Given the description of an element on the screen output the (x, y) to click on. 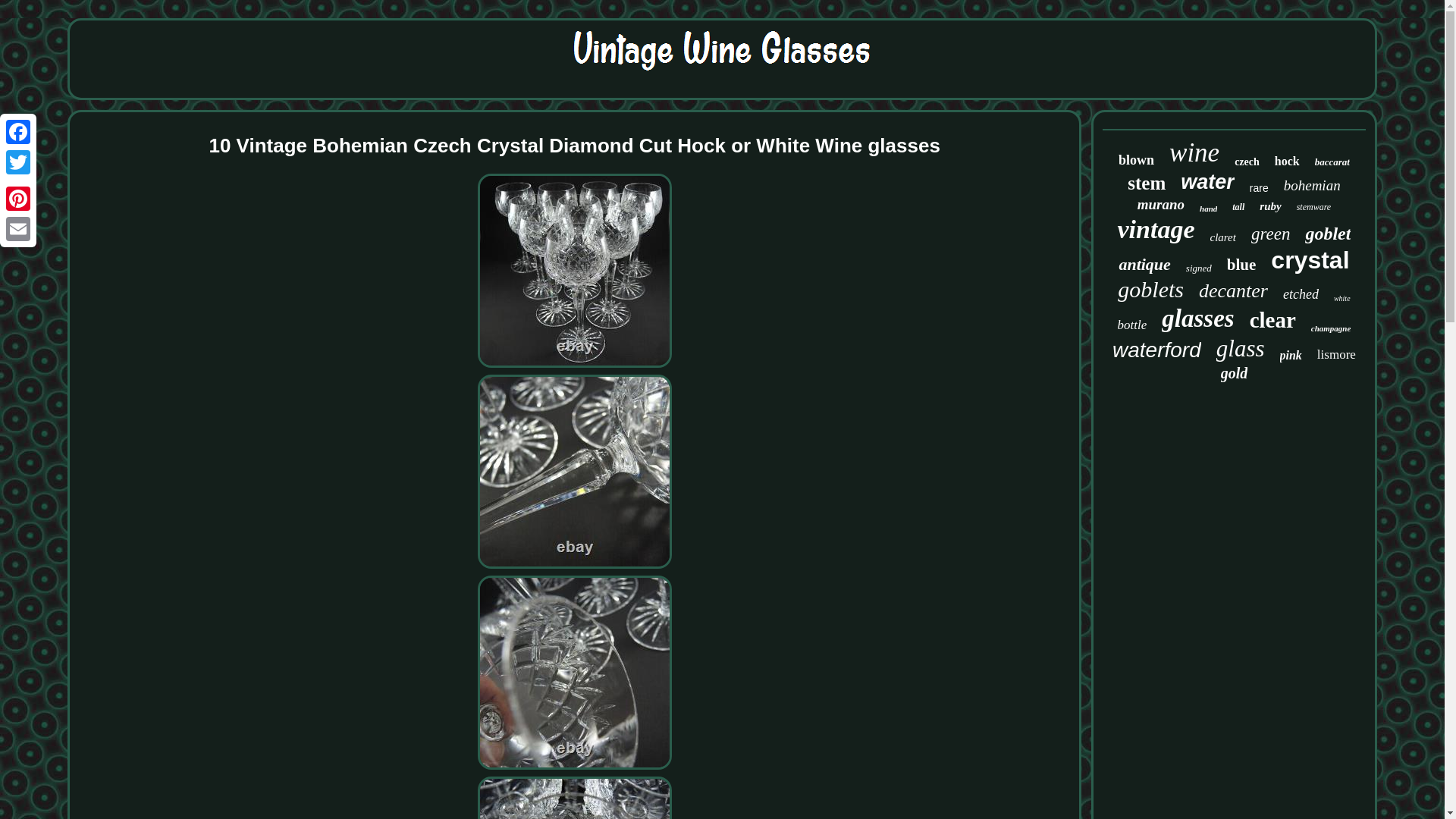
baccarat (1331, 162)
glasses (1197, 318)
blue (1241, 264)
murano (1161, 204)
bottle (1132, 324)
Facebook (17, 132)
hock (1287, 161)
signed (1198, 268)
